Given the description of an element on the screen output the (x, y) to click on. 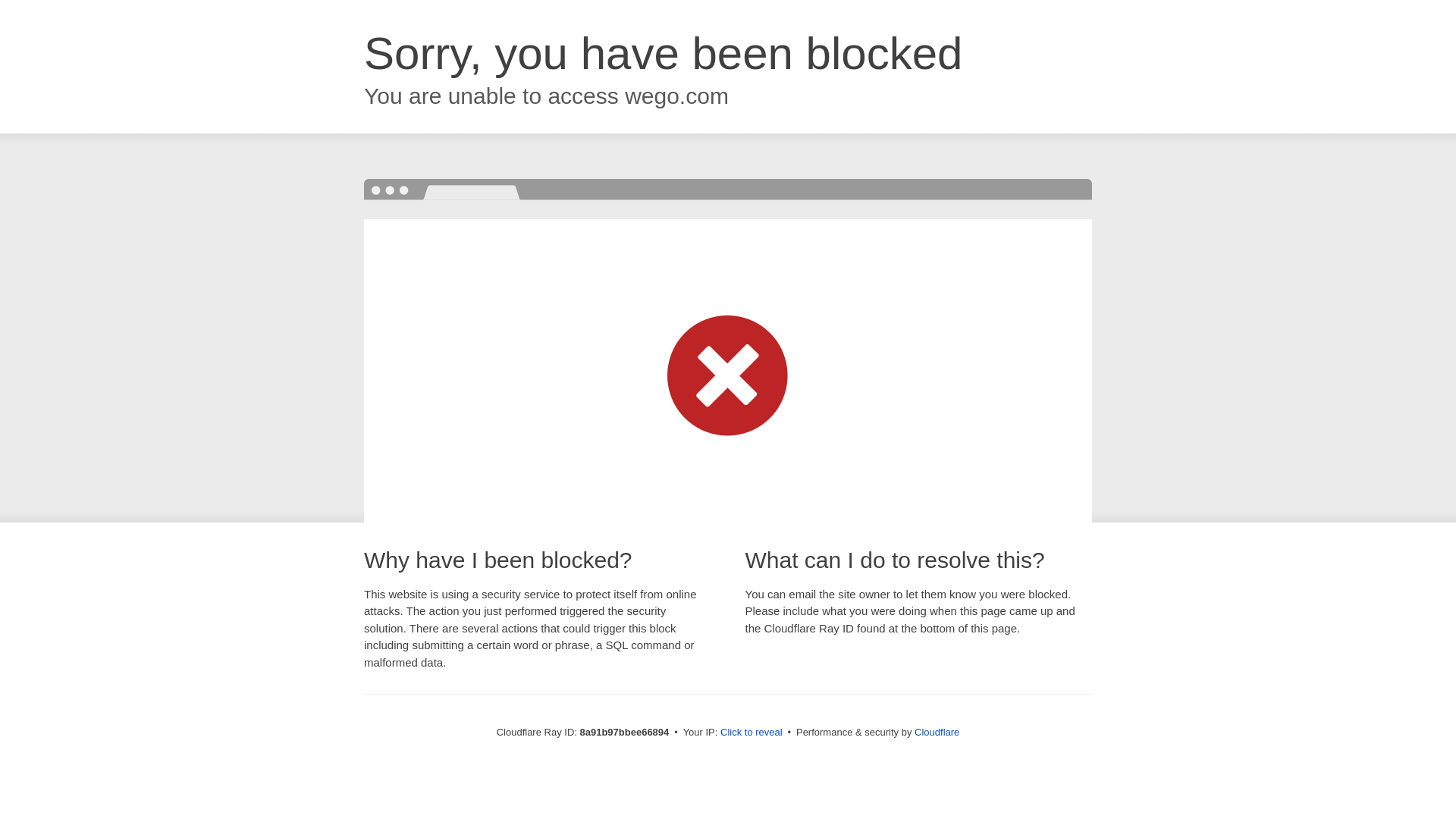
Click to reveal (751, 732)
Cloudflare (936, 731)
